Given the description of an element on the screen output the (x, y) to click on. 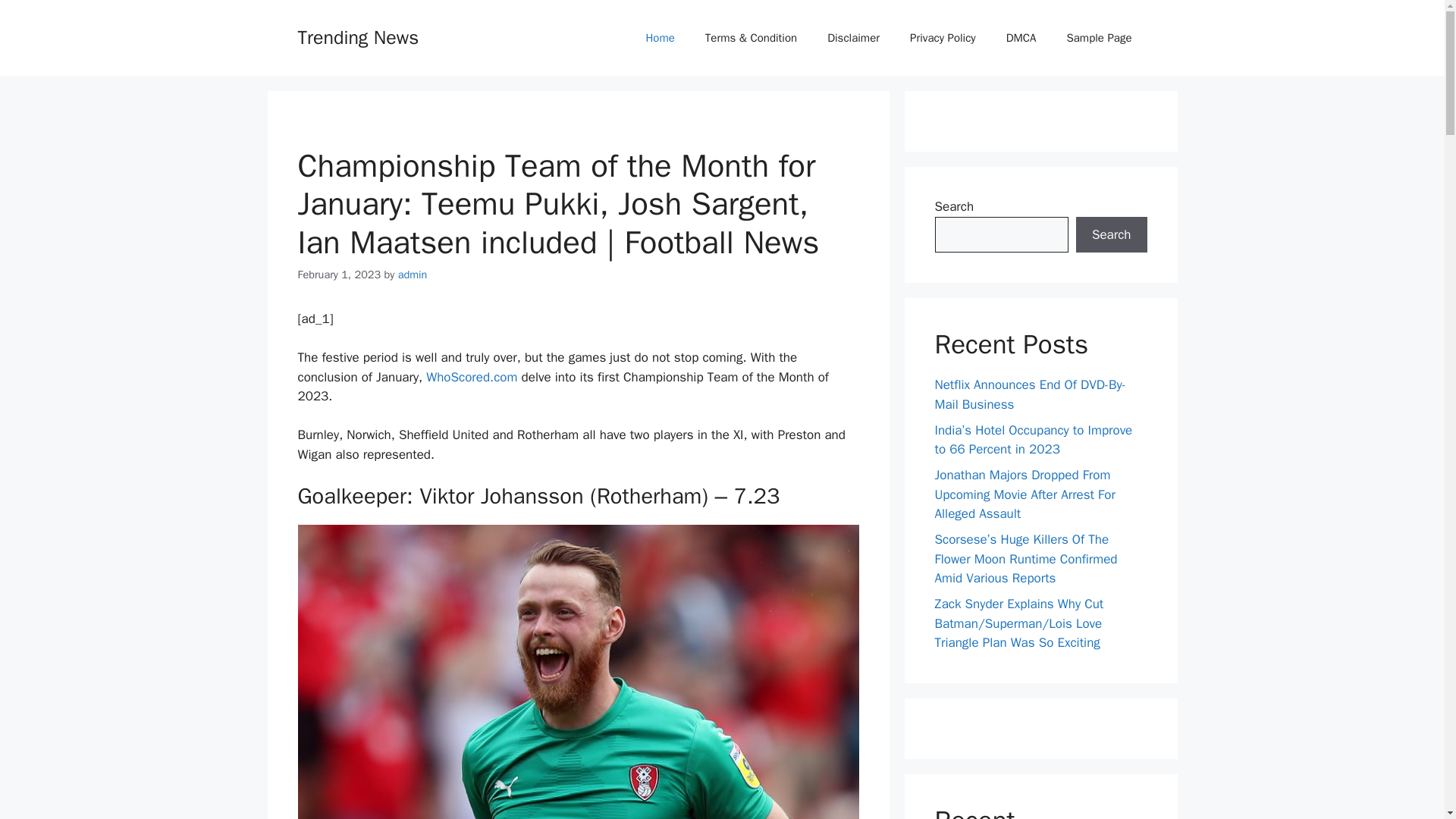
WhoScored.com (471, 376)
Disclaimer (853, 37)
Search (1111, 235)
Privacy Policy (943, 37)
admin (412, 274)
Netflix Announces End Of DVD-By-Mail Business (1029, 394)
DMCA (1021, 37)
Trending News (358, 37)
View all posts by admin (412, 274)
